Given the description of an element on the screen output the (x, y) to click on. 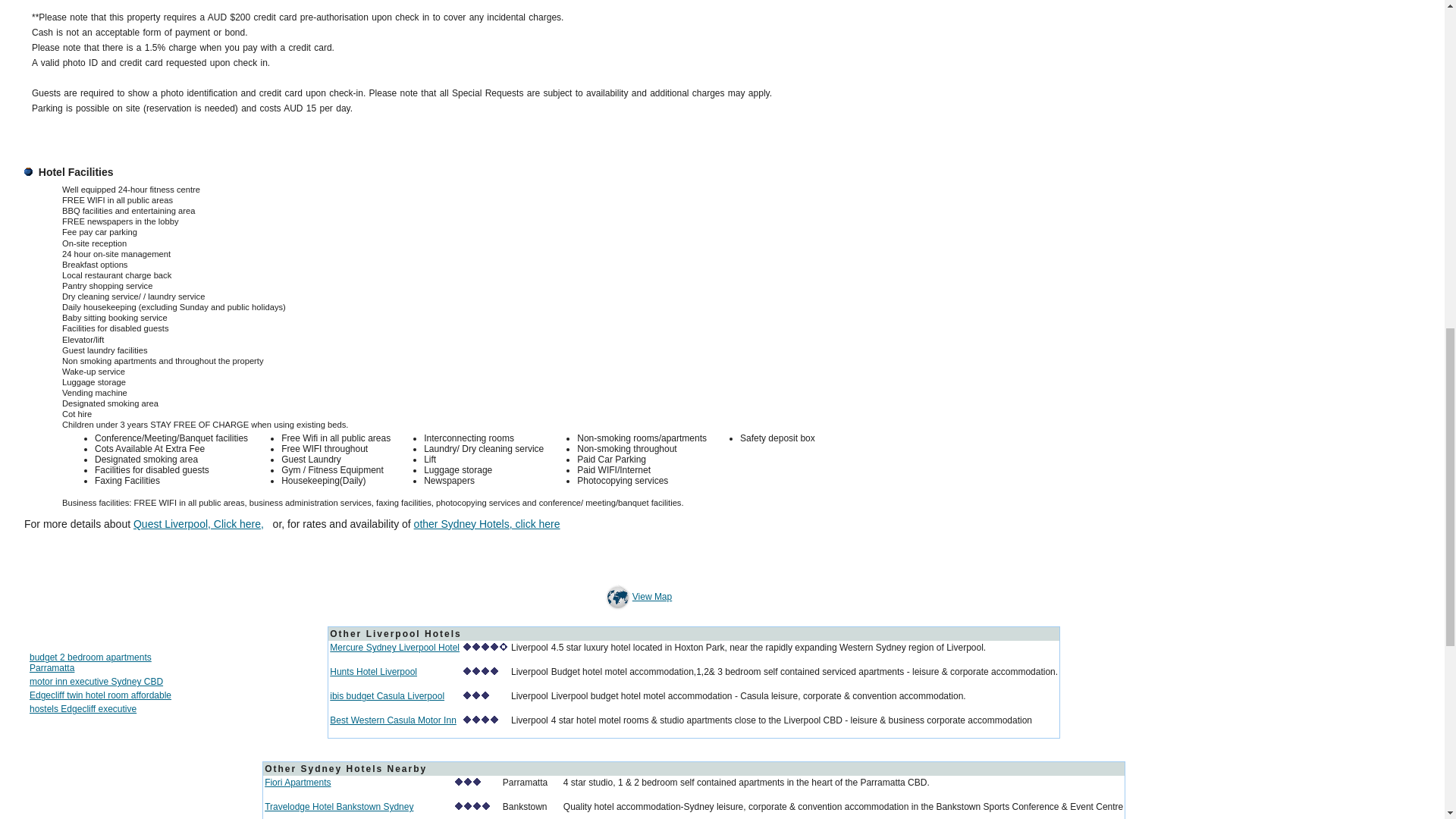
Hunts Hotel Liverpool (373, 671)
motor inn executive Sydney CBD (96, 681)
View Map (636, 596)
other Sydney Hotels, click here (486, 523)
View Map (616, 596)
hostels Edgecliff executive (82, 708)
Edgecliff twin hotel room affordable (100, 695)
Quest Liverpool, Click here, (198, 523)
Mercure Sydney Liverpool Hotel (395, 647)
budget 2 bedroom apartments Parramatta (90, 662)
